Given the description of an element on the screen output the (x, y) to click on. 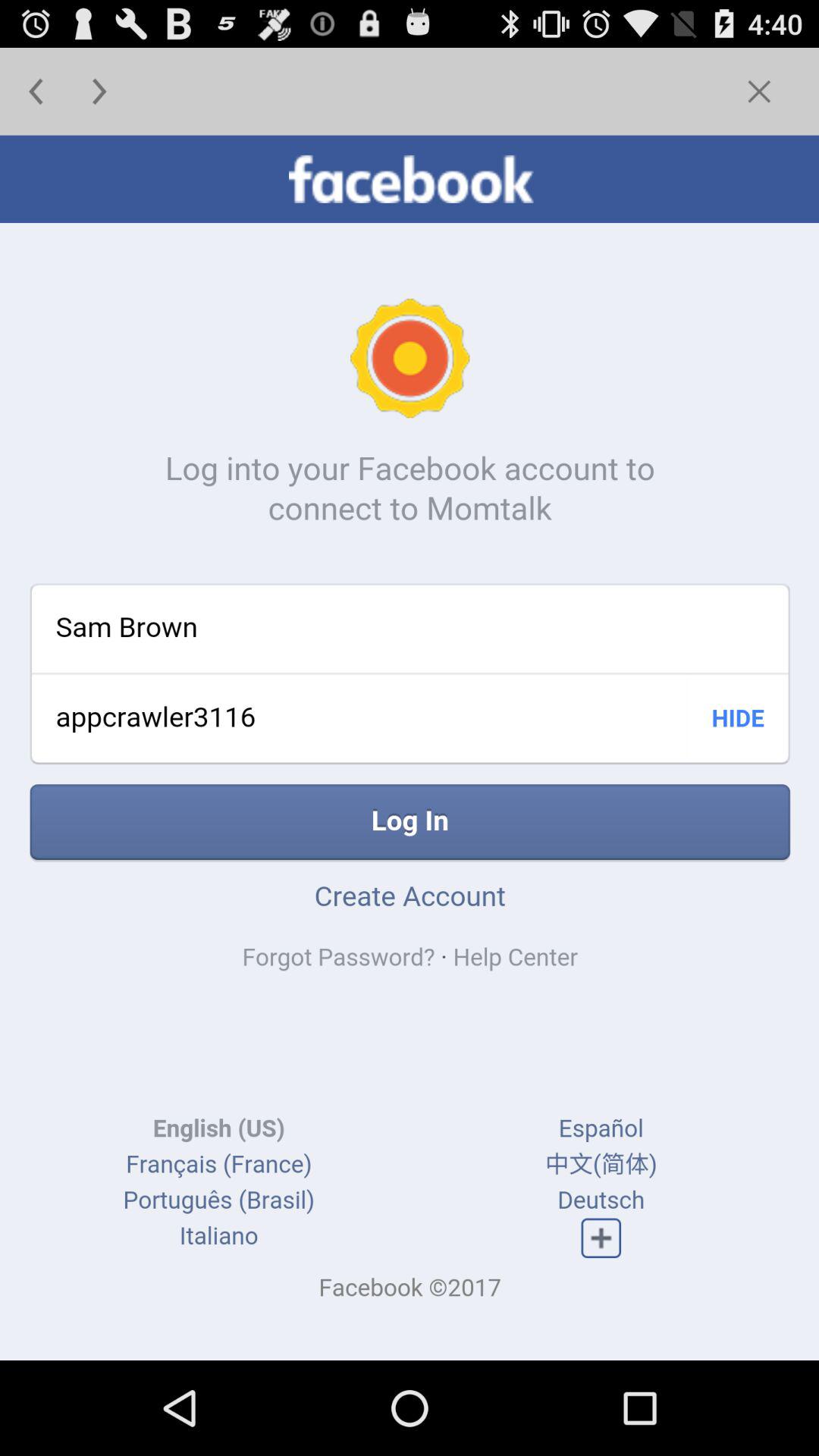
press this to close (759, 91)
